Given the description of an element on the screen output the (x, y) to click on. 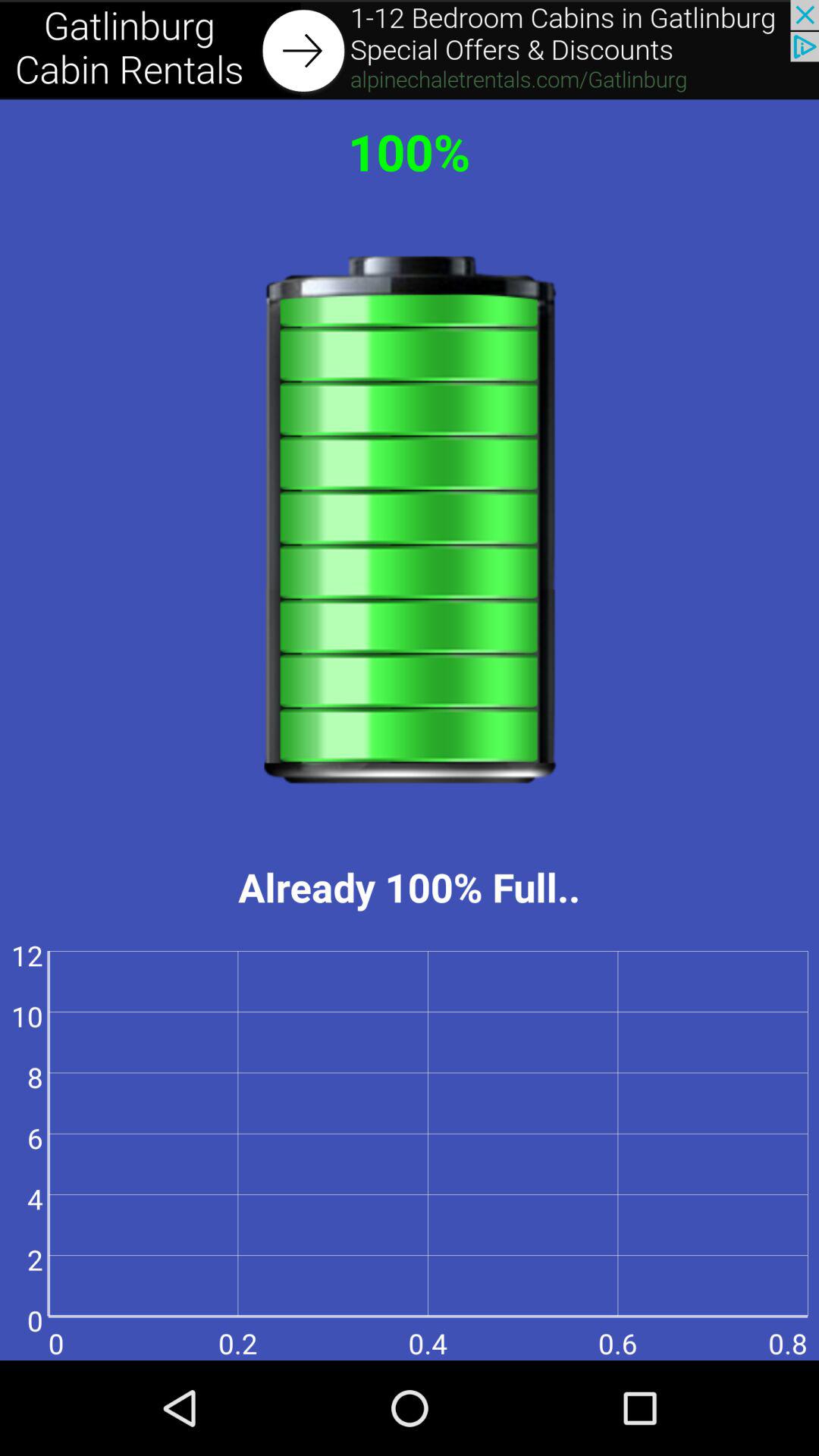
advertisement area (409, 49)
